Given the description of an element on the screen output the (x, y) to click on. 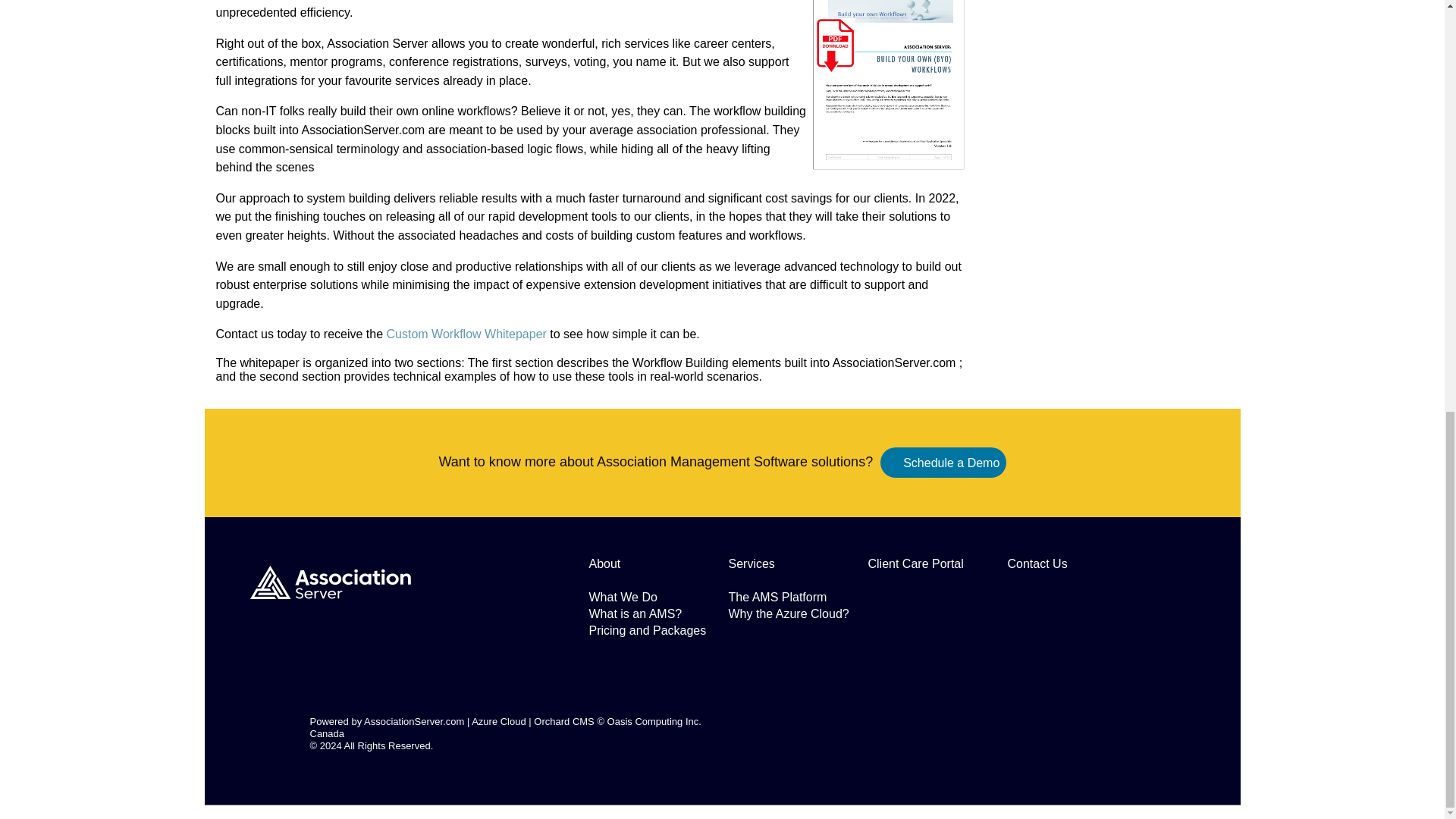
Custom Workflow Whitepaper (464, 333)
Schedule a Demo (950, 462)
